Given the description of an element on the screen output the (x, y) to click on. 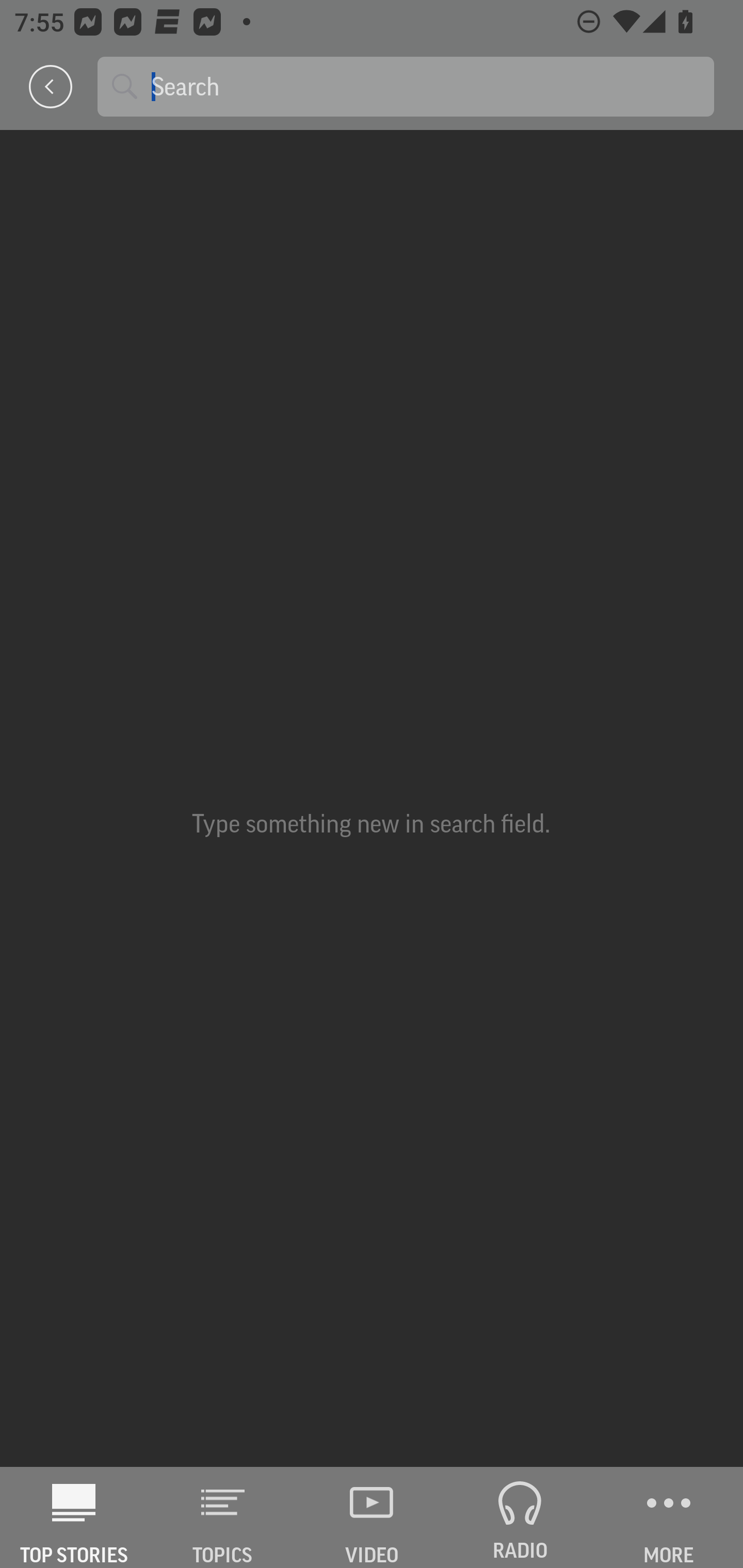
Search (425, 86)
AP News TOP STORIES (74, 1517)
TOPICS (222, 1517)
VIDEO (371, 1517)
RADIO (519, 1517)
MORE (668, 1517)
